Given the description of an element on the screen output the (x, y) to click on. 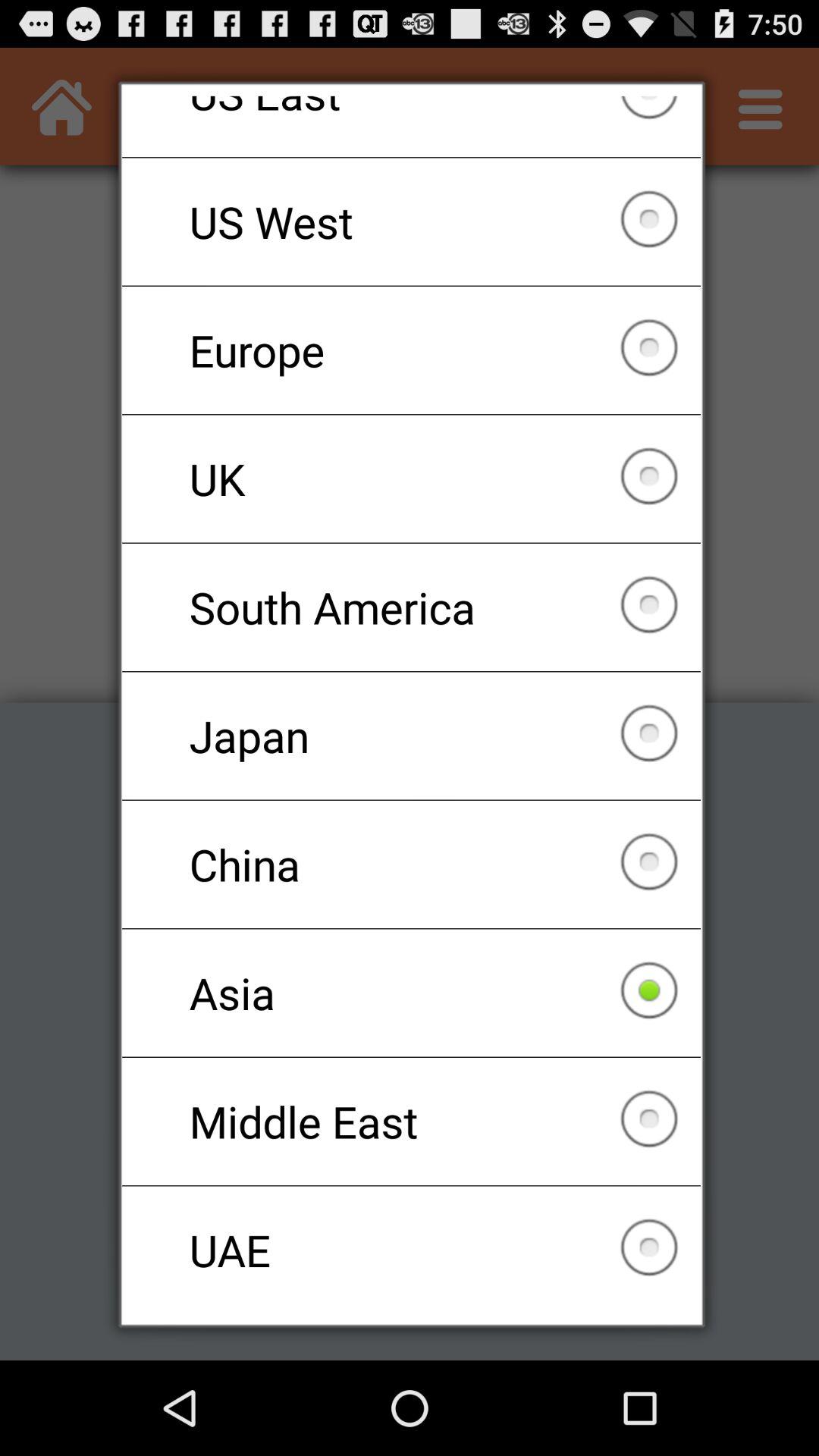
tap uk icon (411, 478)
